Given the description of an element on the screen output the (x, y) to click on. 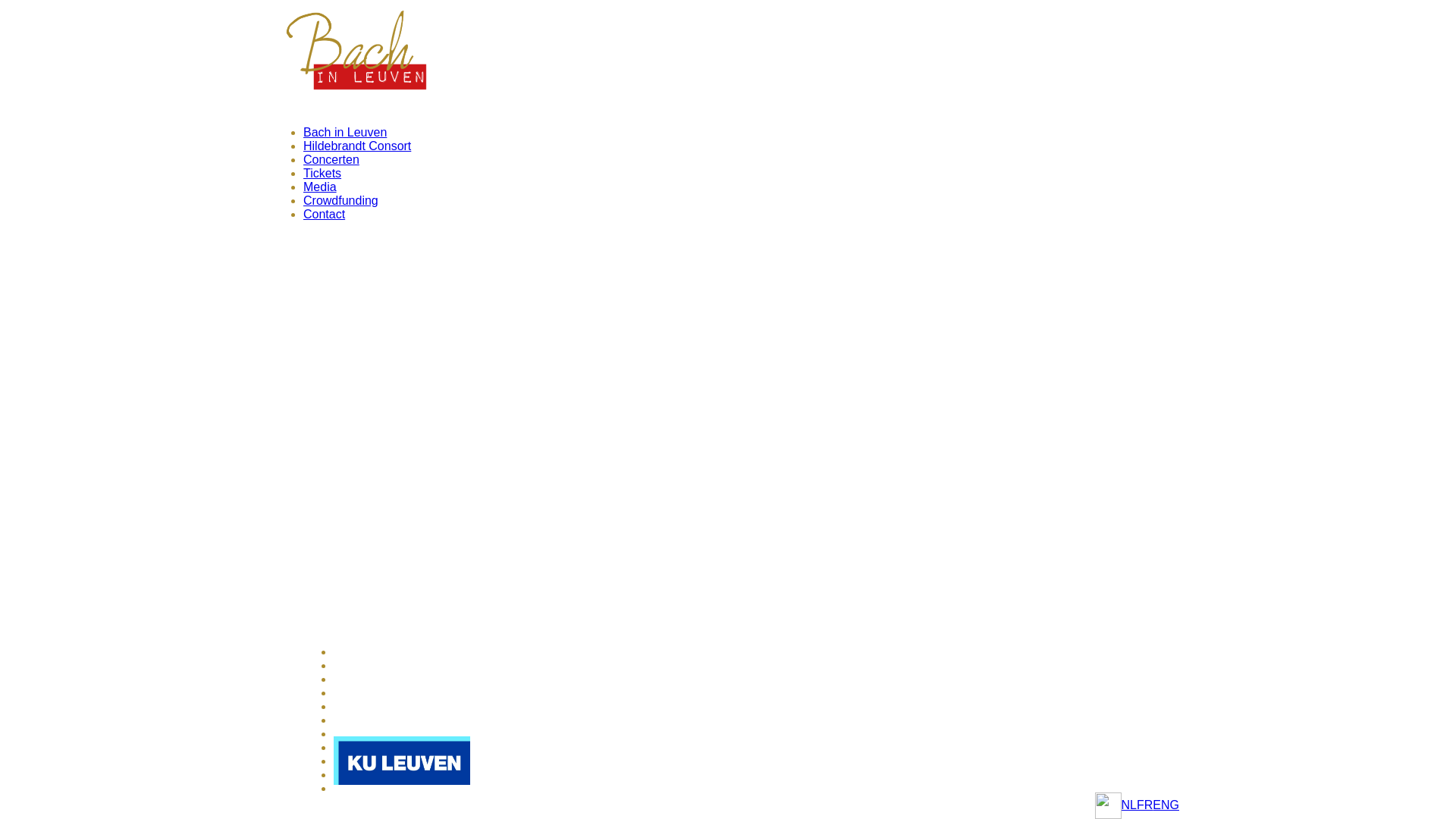
NL Element type: text (1128, 804)
ENG Element type: text (1165, 804)
FR Element type: text (1144, 804)
Contact Element type: text (324, 213)
Bach in Leuven Element type: text (344, 131)
Concerten Element type: text (331, 159)
Tickets Element type: text (322, 172)
Hildebrandt Consort Element type: text (357, 145)
Media Element type: text (319, 186)
Crowdfunding Element type: text (340, 200)
